Given the description of an element on the screen output the (x, y) to click on. 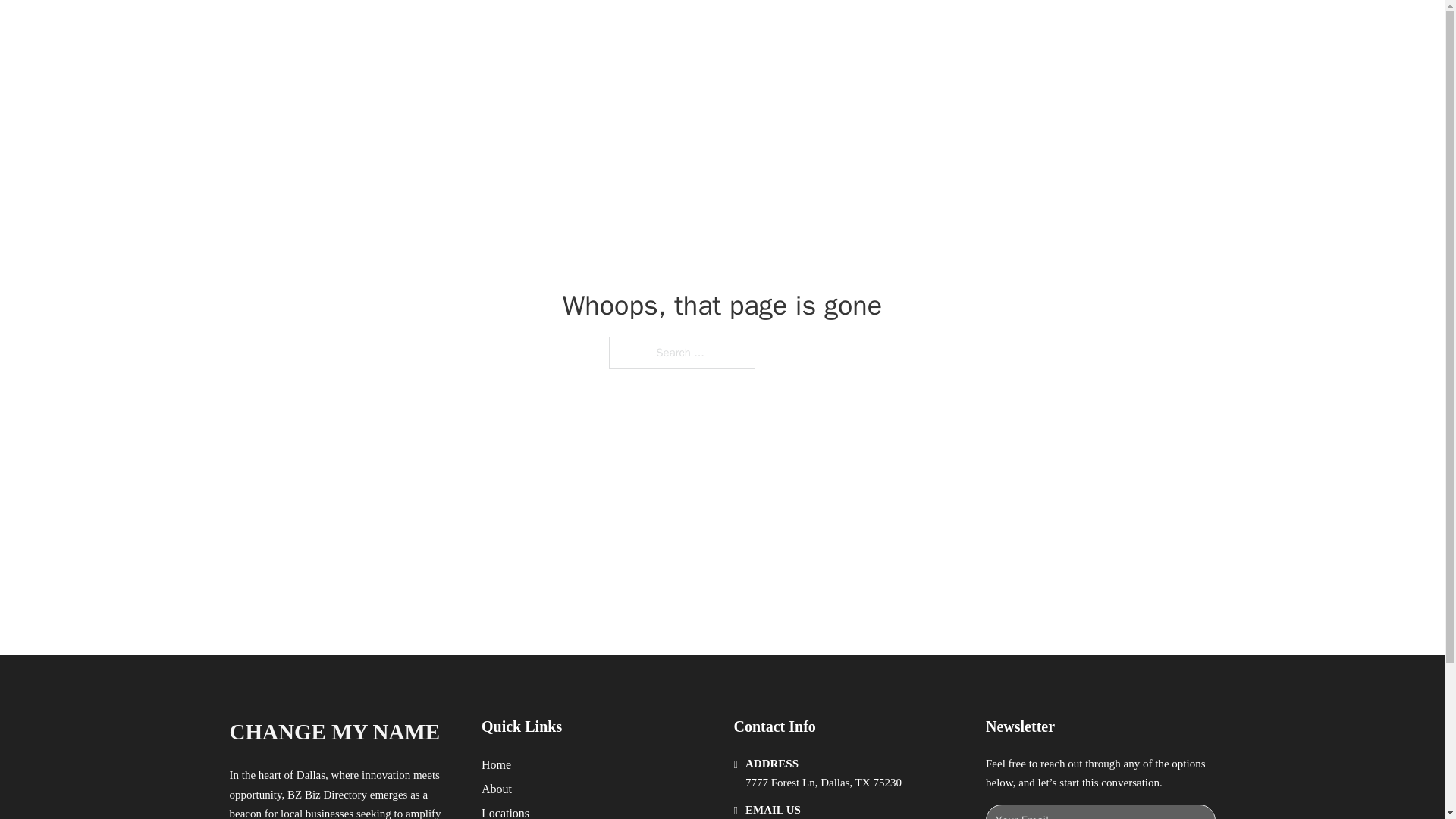
Locations (505, 811)
Home (496, 764)
LOCATIONS (990, 29)
HOME (919, 29)
CHANGE MY NAME (333, 732)
About (496, 788)
BZ BIZ DIRECTORY (403, 28)
